Given the description of an element on the screen output the (x, y) to click on. 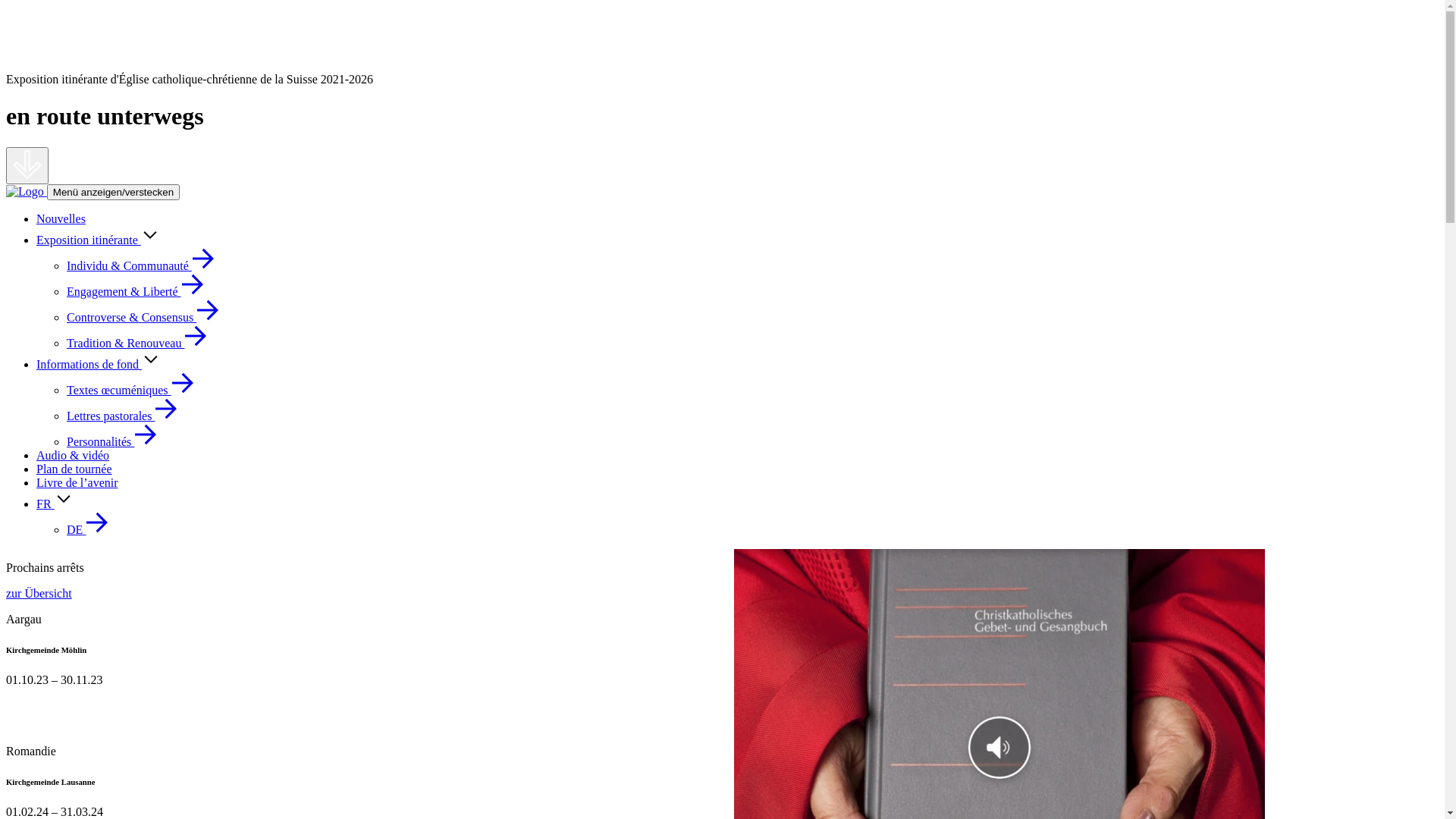
Nouvelles Element type: text (60, 218)
Lettres pastorales Element type: text (121, 415)
FR Element type: text (45, 503)
Tradition & Renouveau Element type: text (136, 342)
Controverse & Consensus Element type: text (142, 316)
DE Element type: text (87, 529)
Informations de fond Element type: text (88, 363)
